Given the description of an element on the screen output the (x, y) to click on. 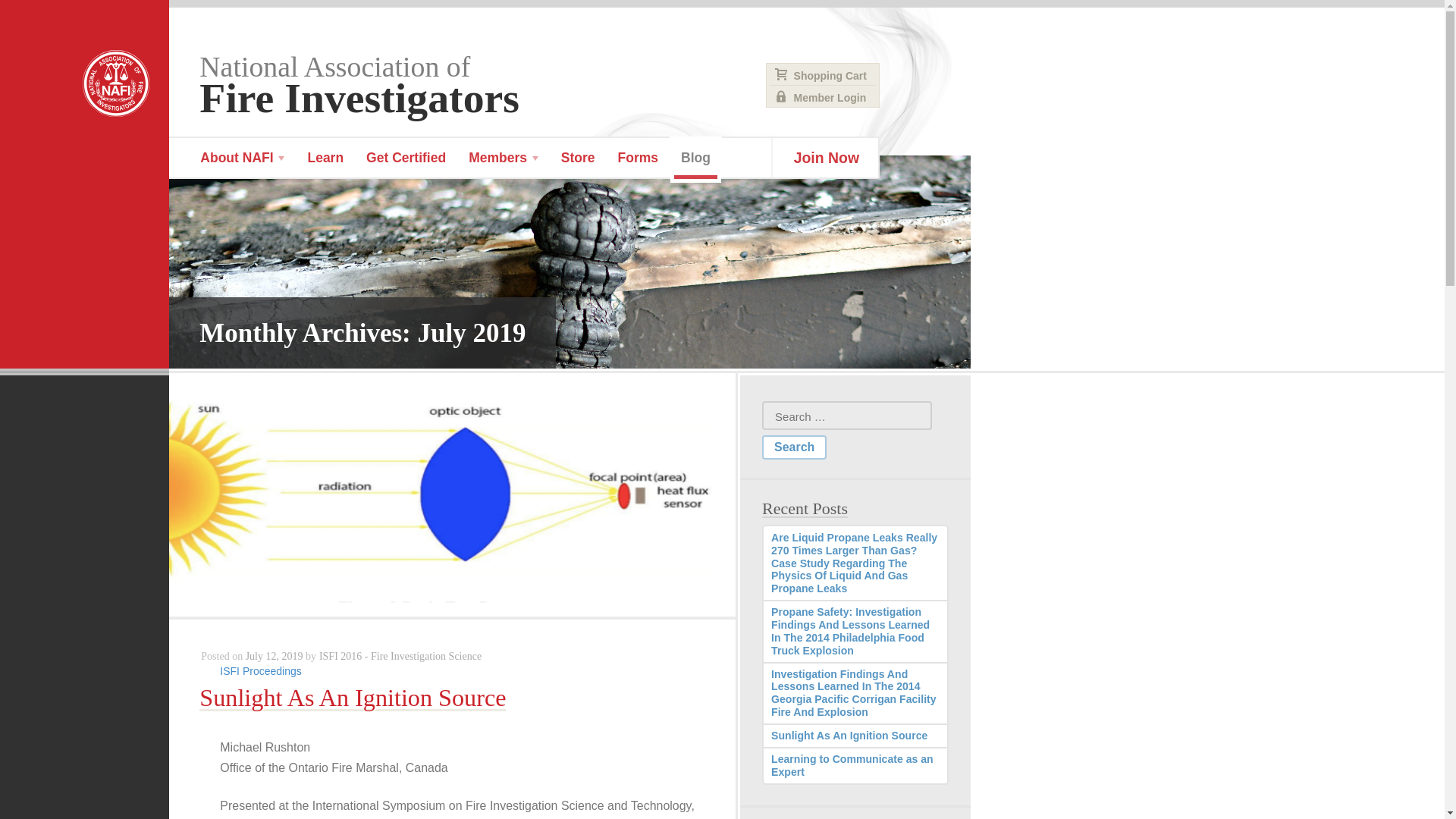
Shopping Cart (823, 75)
Search (794, 446)
Learn (325, 157)
Join Now (825, 157)
Member Login (561, 82)
Search (823, 97)
Get Certified (794, 446)
Forms (406, 157)
Blog (638, 157)
Members (695, 156)
Store (503, 157)
About NAFI (578, 157)
